Given the description of an element on the screen output the (x, y) to click on. 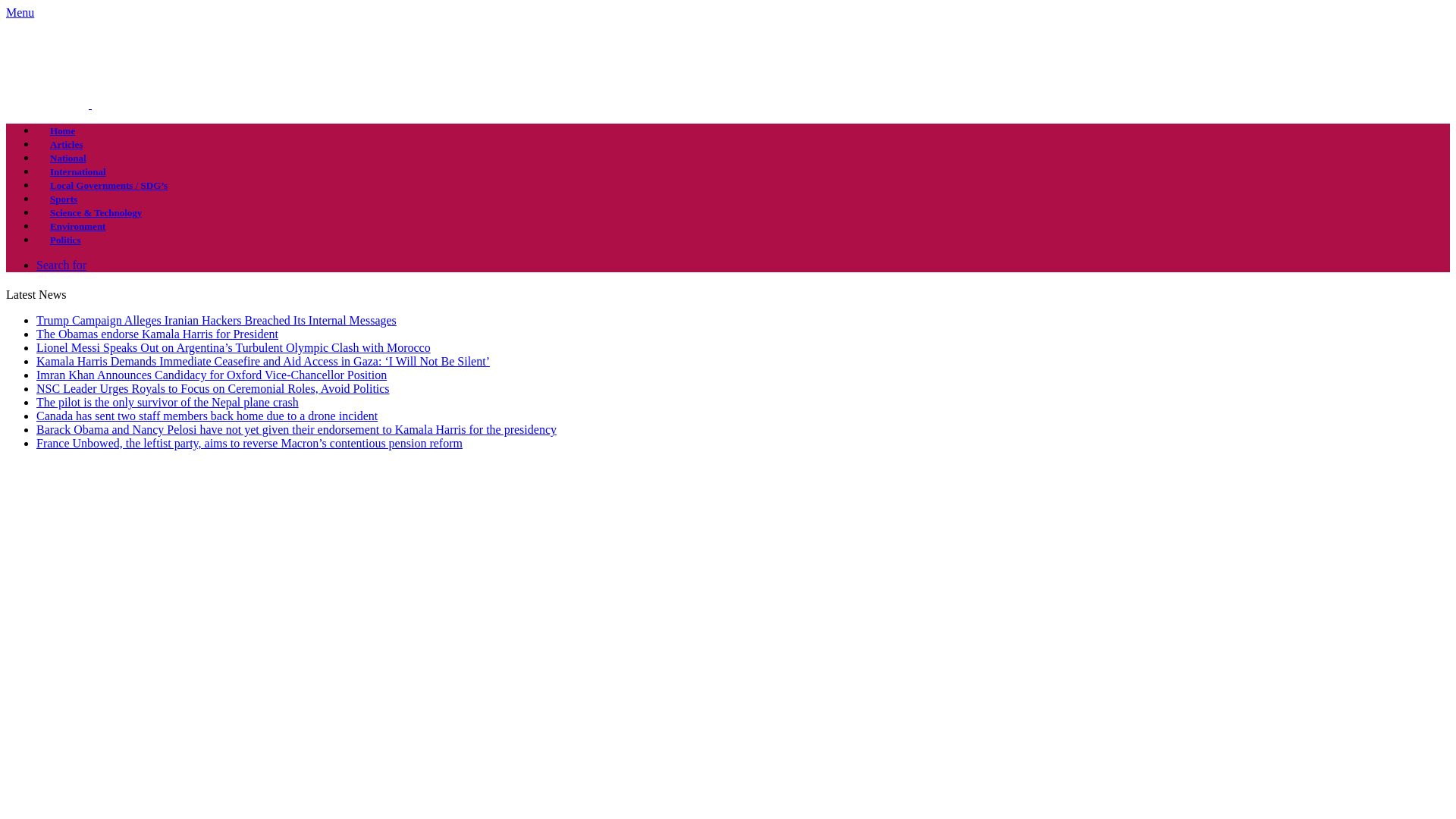
Environment (77, 225)
Home (62, 130)
International (77, 171)
Articles (66, 143)
The pilot is the only survivor of the Nepal plane crash (167, 401)
